Given the description of an element on the screen output the (x, y) to click on. 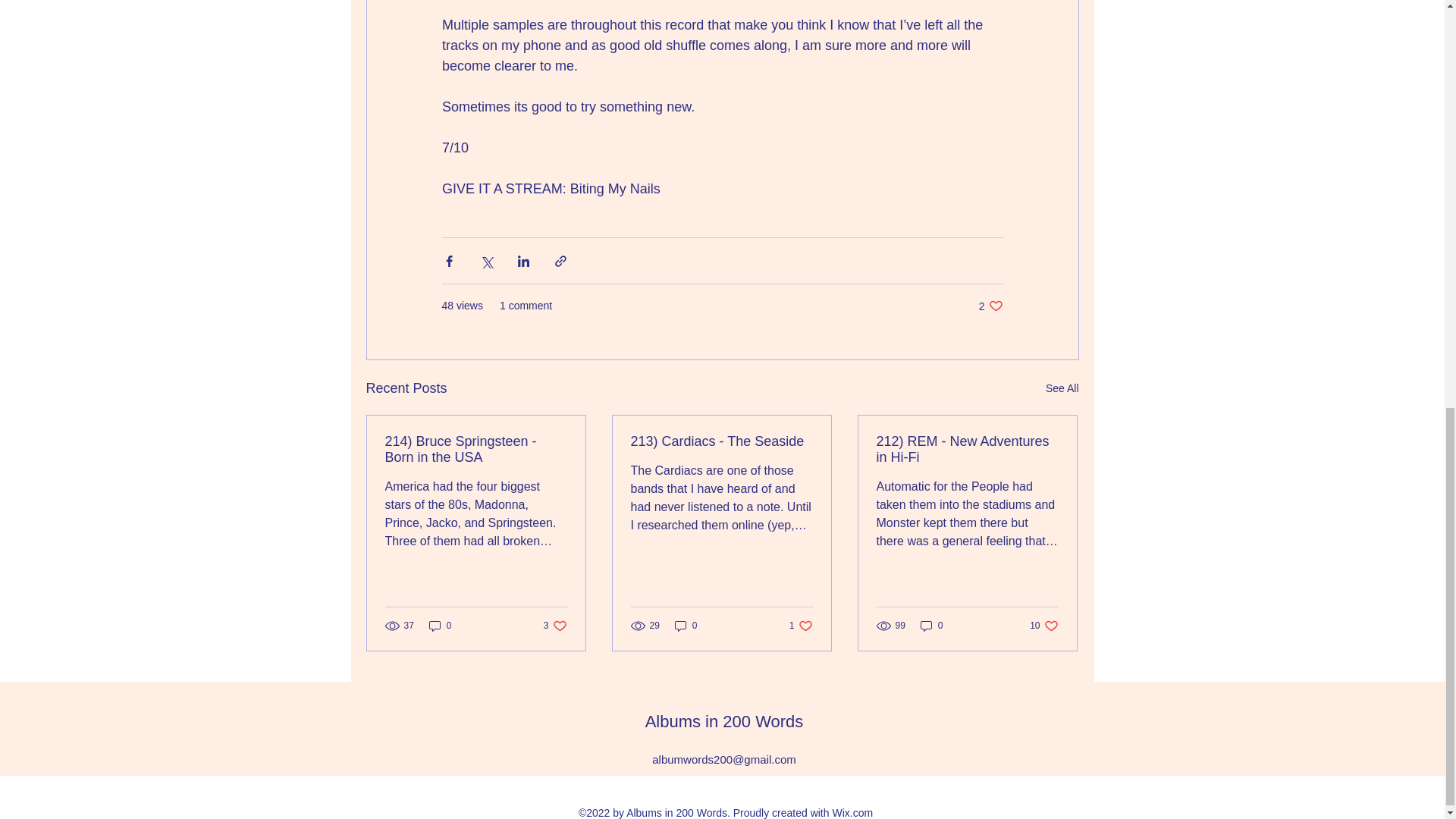
0 (685, 626)
0 (990, 305)
0 (931, 626)
See All (440, 626)
